Given the description of an element on the screen output the (x, y) to click on. 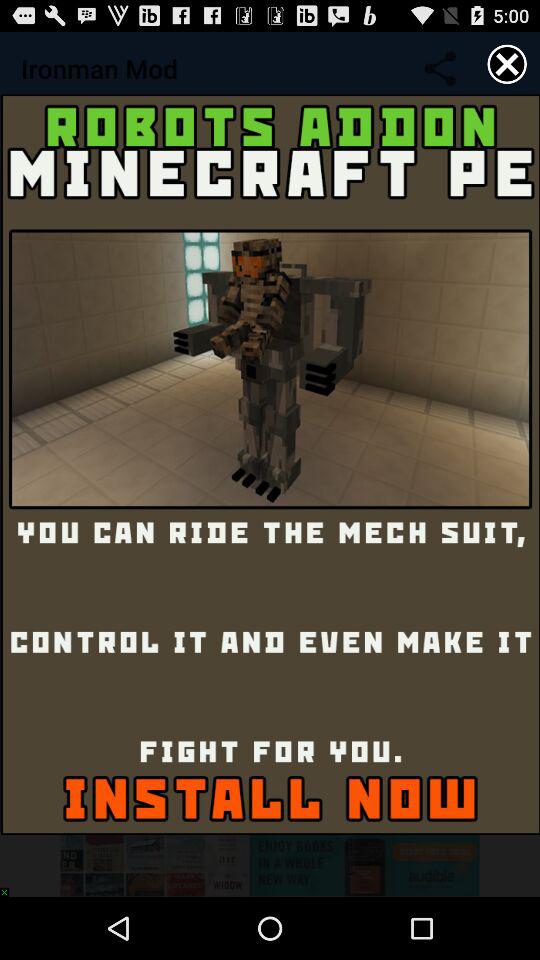
launch item at the top right corner (507, 64)
